Given the description of an element on the screen output the (x, y) to click on. 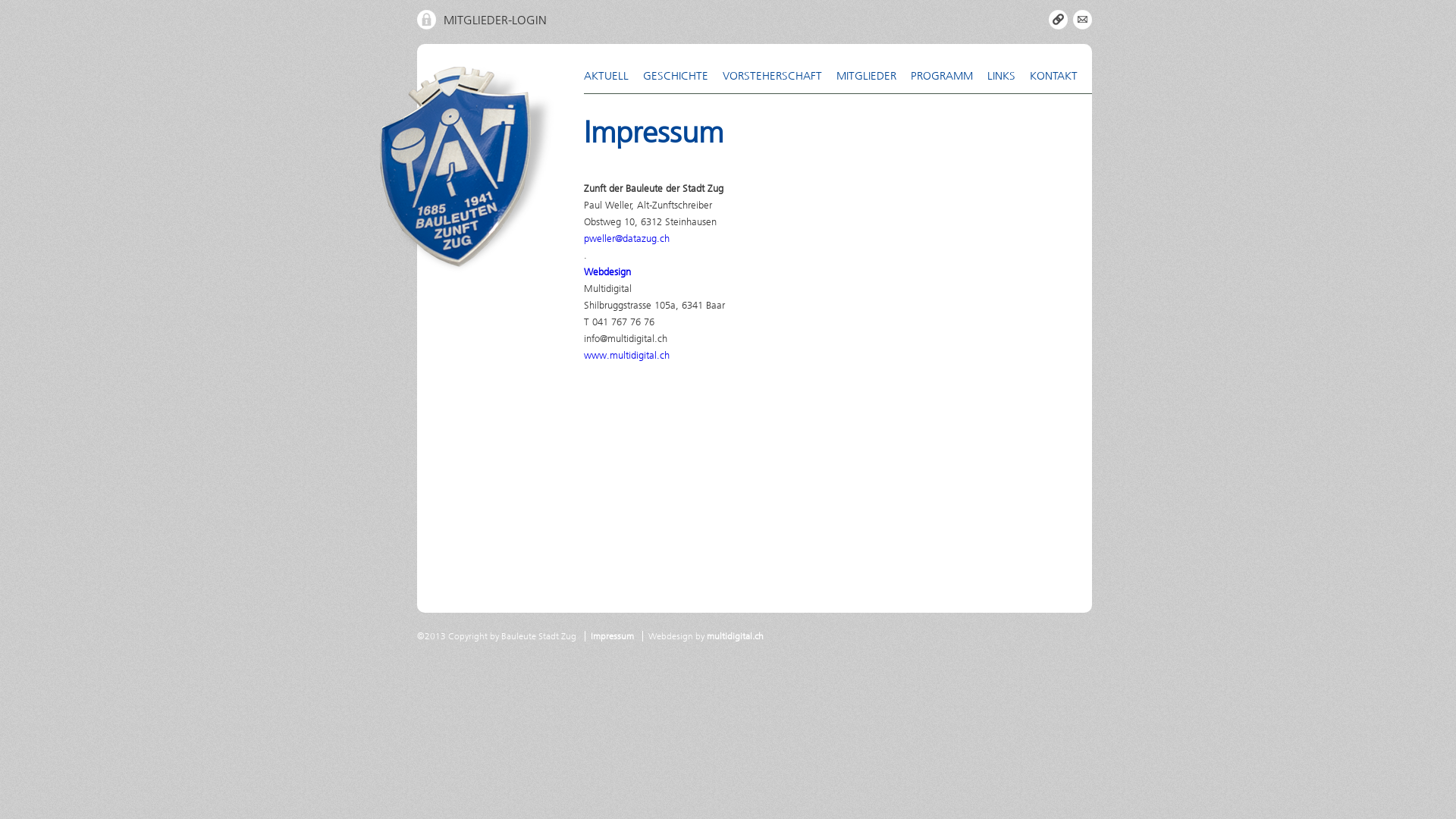
pweller@datazug.ch Element type: text (626, 238)
www.multidigital.ch Element type: text (626, 354)
Impressum Element type: text (611, 635)
multidigital.ch Element type: text (734, 635)
VORSTEHERSCHAFT Element type: text (779, 75)
LINKS Element type: text (1008, 75)
Webdesign Element type: text (606, 271)
PROGRAMM Element type: text (948, 75)
KONTAKT Element type: text (1060, 75)
MITGLIEDER Element type: text (873, 75)
GESCHICHTE Element type: text (682, 75)
AKTUELL Element type: text (613, 75)
